Given the description of an element on the screen output the (x, y) to click on. 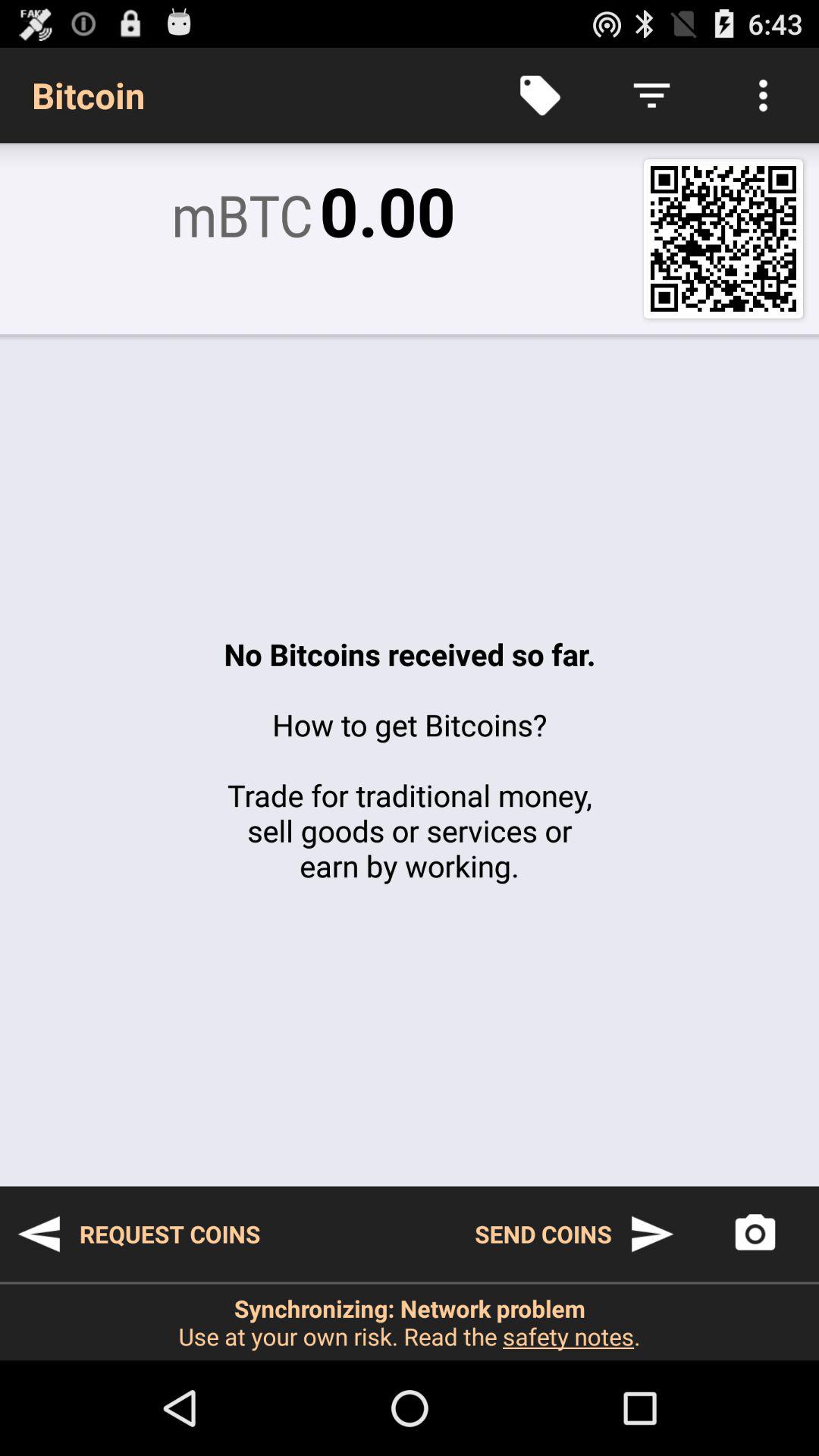
select synchronizing network problem app (409, 1322)
